Given the description of an element on the screen output the (x, y) to click on. 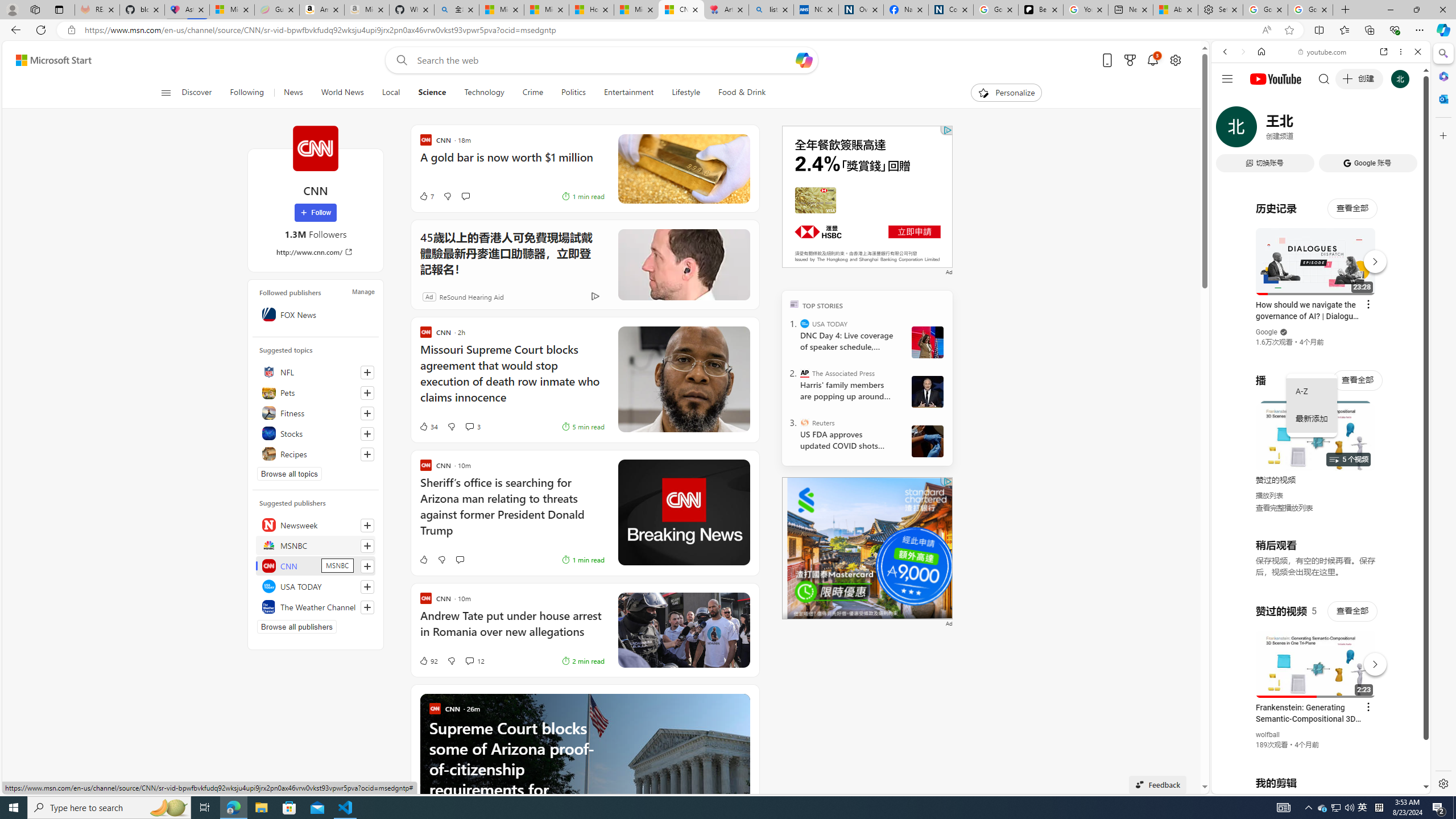
MSNBC (315, 545)
Search Filter, Search Tools (1350, 129)
Be Smart | creating Science videos | Patreon (1040, 9)
Follow this source (367, 607)
CNN (315, 565)
